Given the description of an element on the screen output the (x, y) to click on. 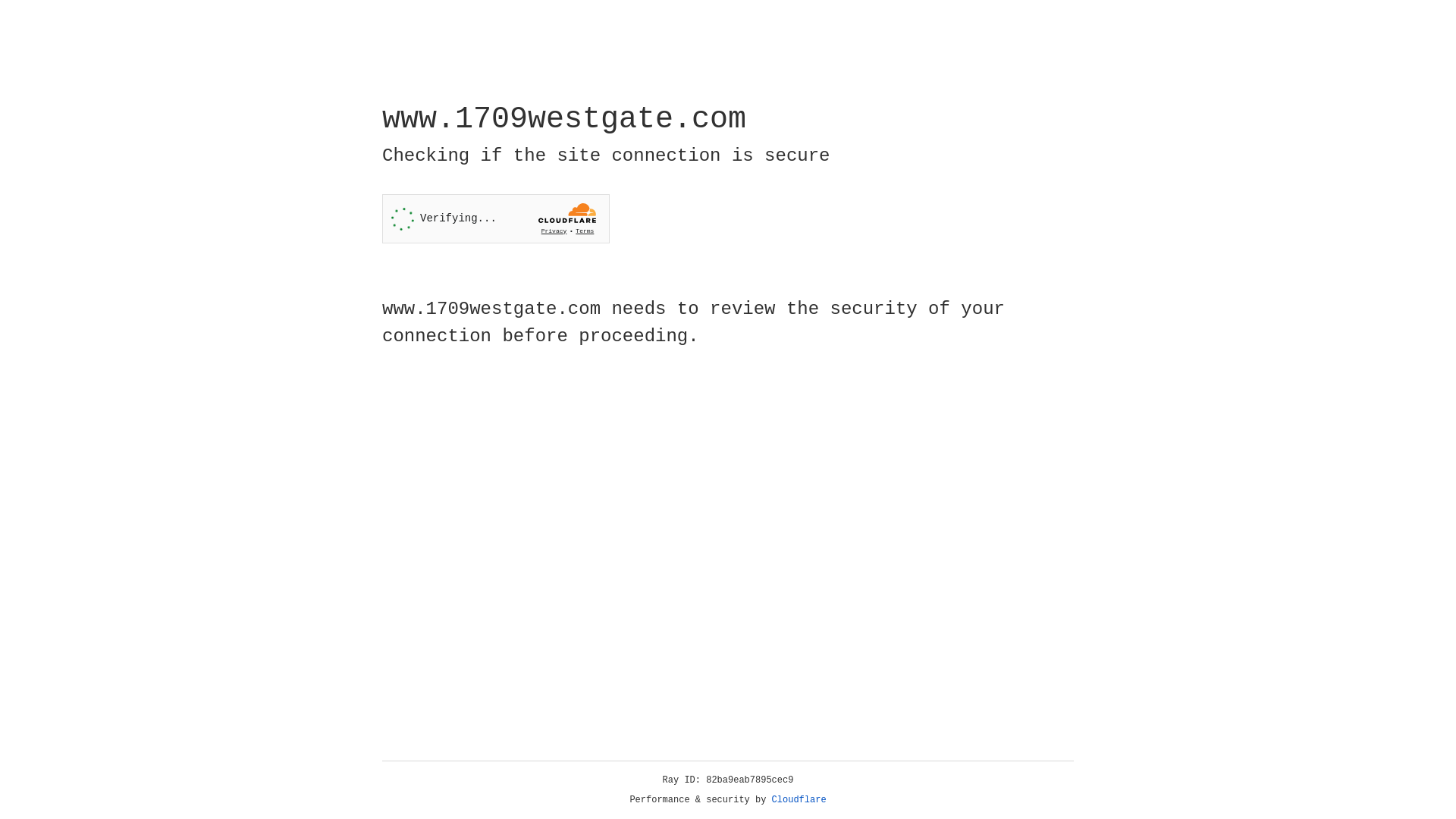
Cloudflare Element type: text (798, 799)
Widget containing a Cloudflare security challenge Element type: hover (495, 218)
